Given the description of an element on the screen output the (x, y) to click on. 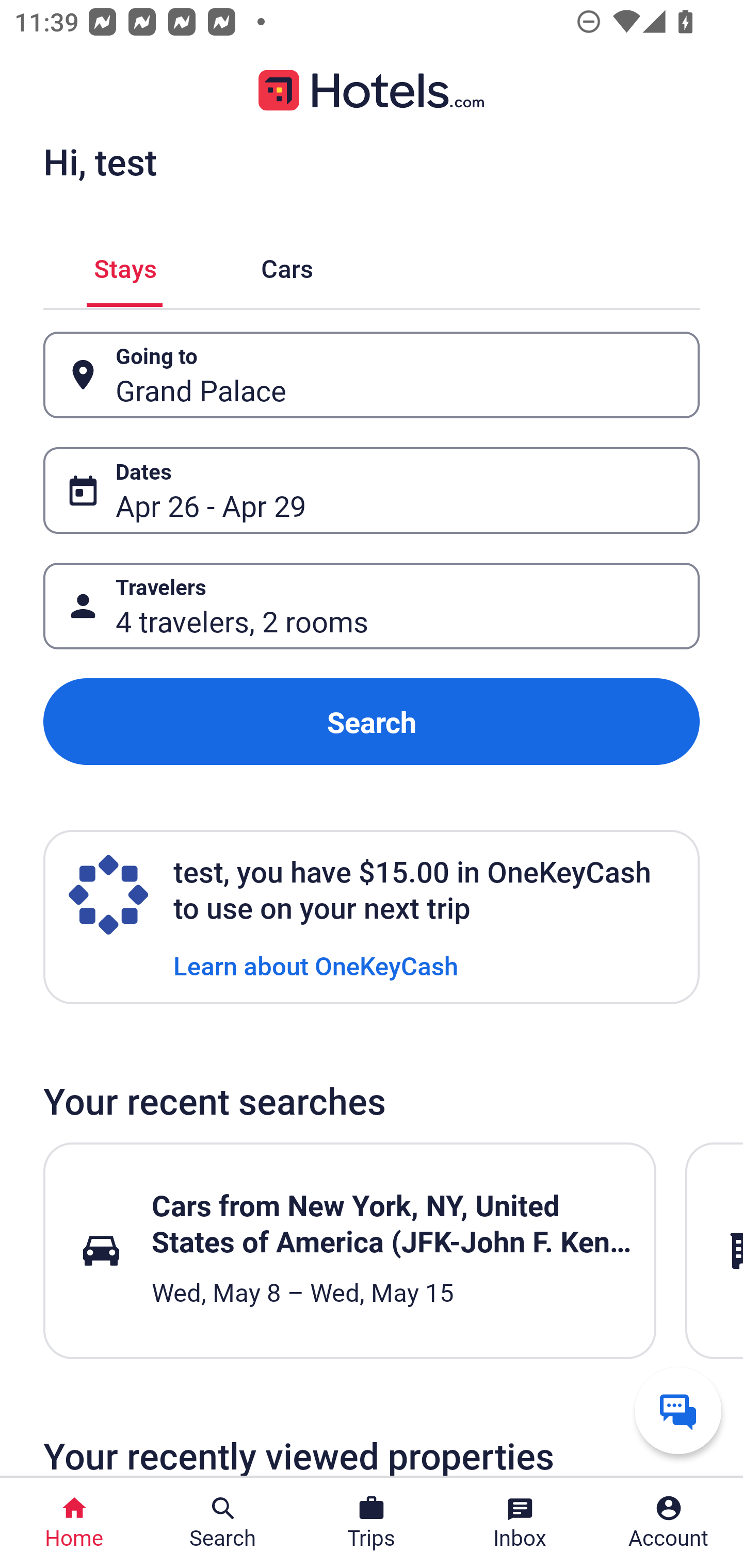
Hi, test (99, 161)
Cars (286, 265)
Going to Button Grand Palace (371, 375)
Dates Button Apr 26 - Apr 29 (371, 489)
Travelers Button 4 travelers, 2 rooms (371, 605)
Search (371, 721)
Learn about OneKeyCash Learn about OneKeyCash Link (315, 964)
Get help from a virtual agent (677, 1410)
Search Search Button (222, 1522)
Trips Trips Button (371, 1522)
Inbox Inbox Button (519, 1522)
Account Profile. Button (668, 1522)
